Given the description of an element on the screen output the (x, y) to click on. 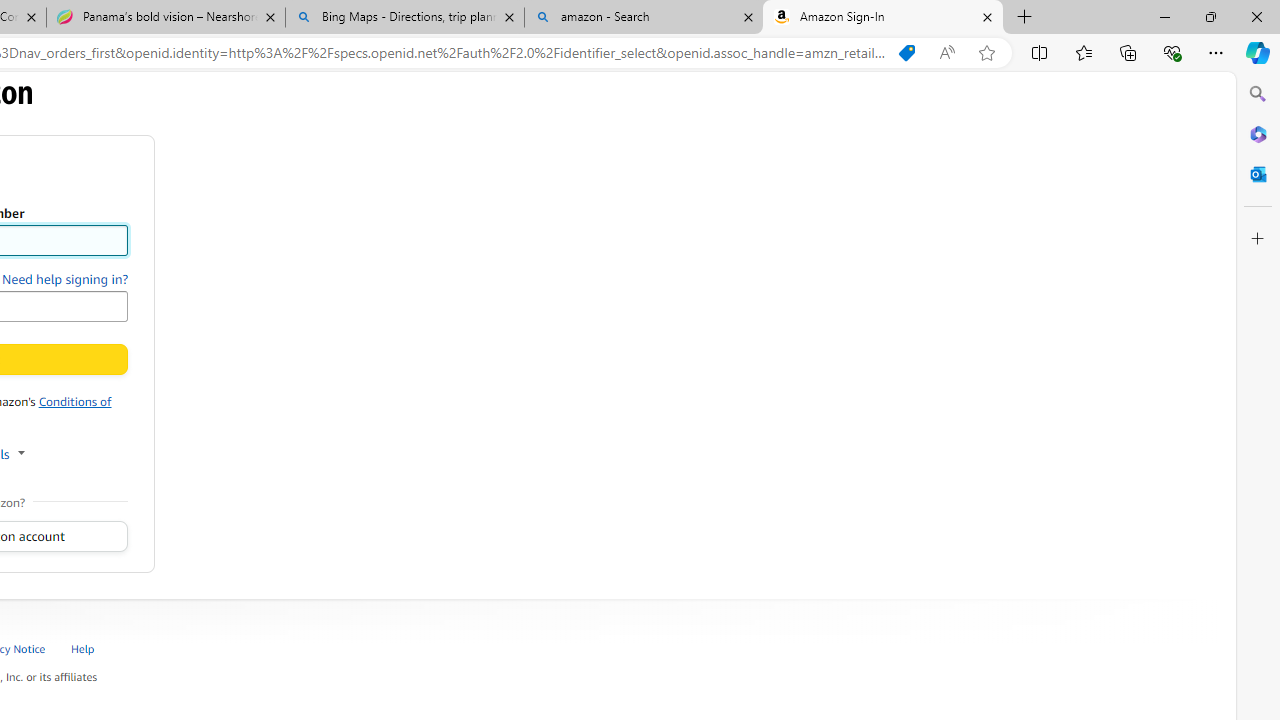
Help  (84, 647)
Help  (93, 648)
amazon - Search (643, 17)
